Given the description of an element on the screen output the (x, y) to click on. 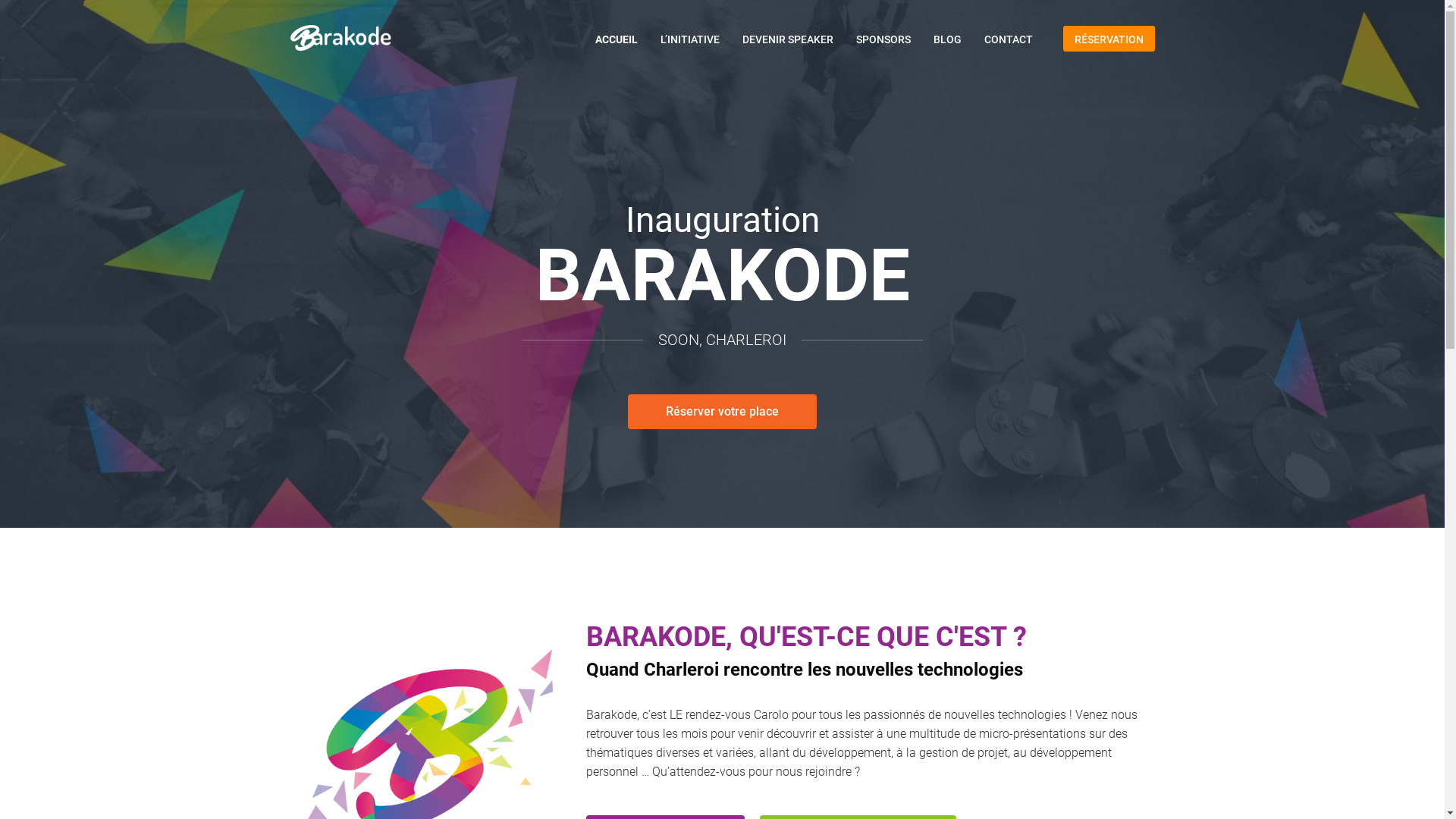
ACCUEIL Element type: text (616, 39)
BLOG Element type: text (947, 39)
CONTACT Element type: text (1007, 39)
DEVENIR SPEAKER Element type: text (787, 39)
SPONSORS Element type: text (883, 39)
